Given the description of an element on the screen output the (x, y) to click on. 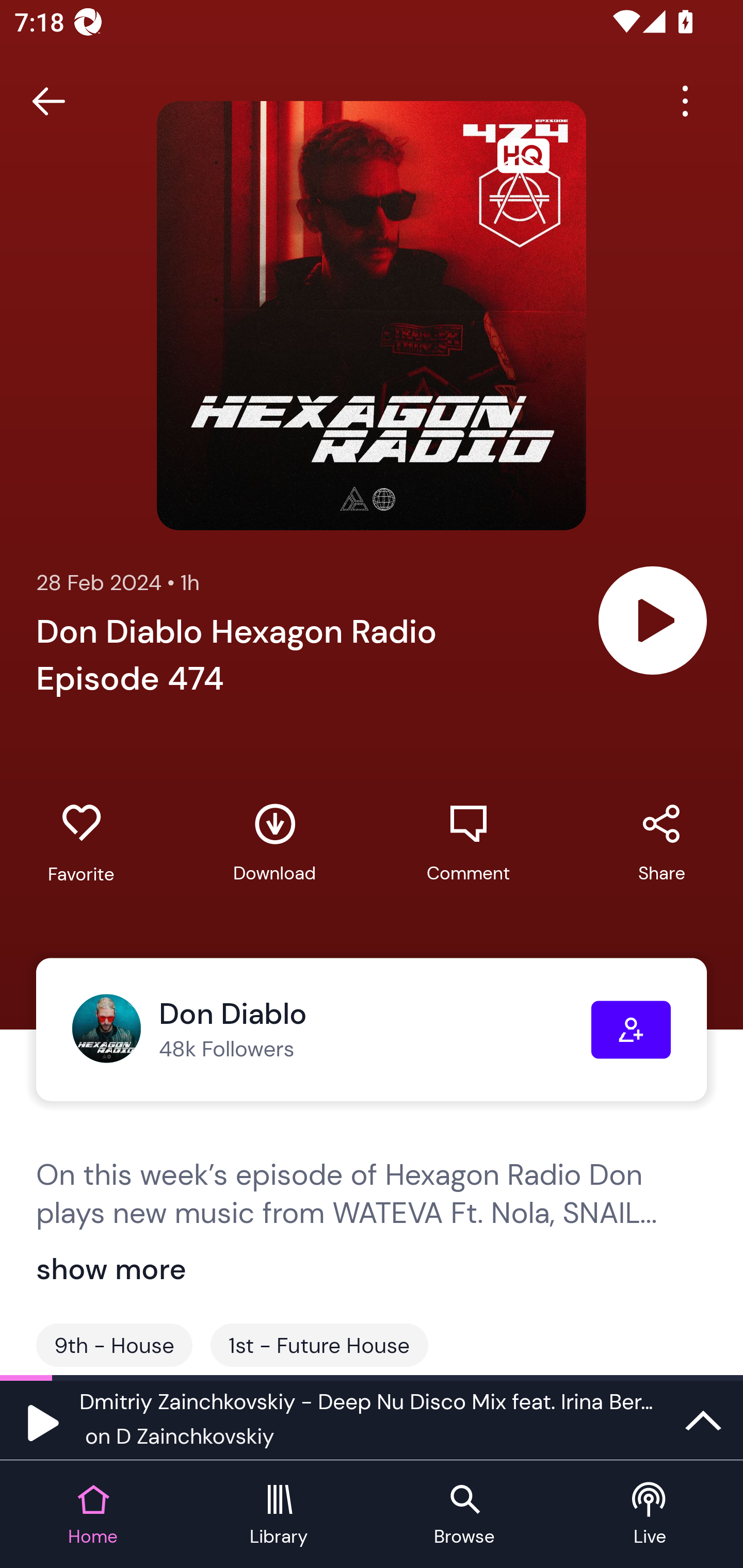
Favorite (81, 843)
Download (274, 843)
Comment (467, 843)
Share (661, 843)
Don Diablo, 48k Followers Don Diablo 48k Followers (331, 1029)
Follow (630, 1029)
9th - House (114, 1345)
1st - Future House (318, 1345)
Home tab Home (92, 1515)
Library tab Library (278, 1515)
Browse tab Browse (464, 1515)
Live tab Live (650, 1515)
